Given the description of an element on the screen output the (x, y) to click on. 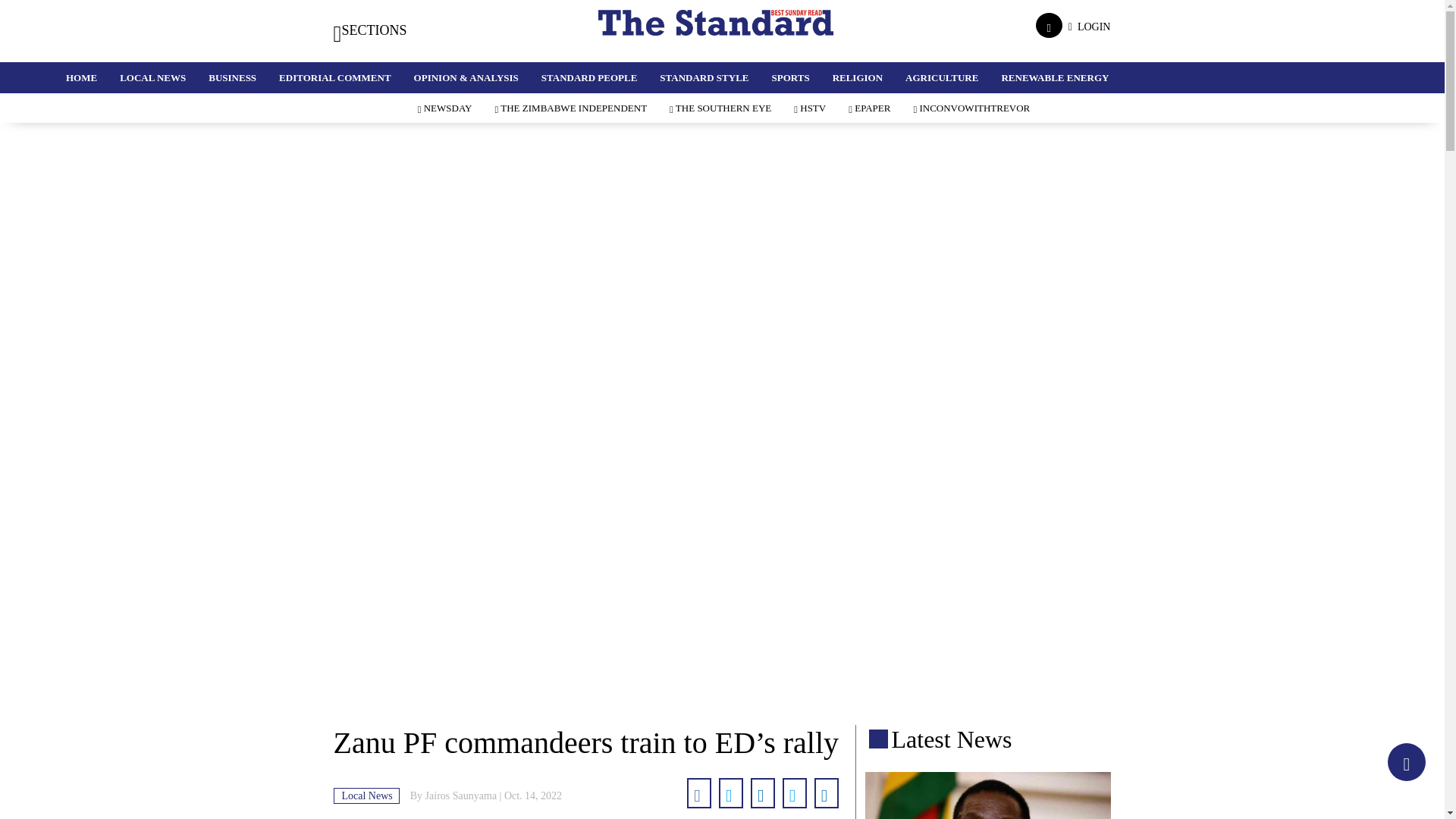
3rd party ad content (721, 675)
